Given the description of an element on the screen output the (x, y) to click on. 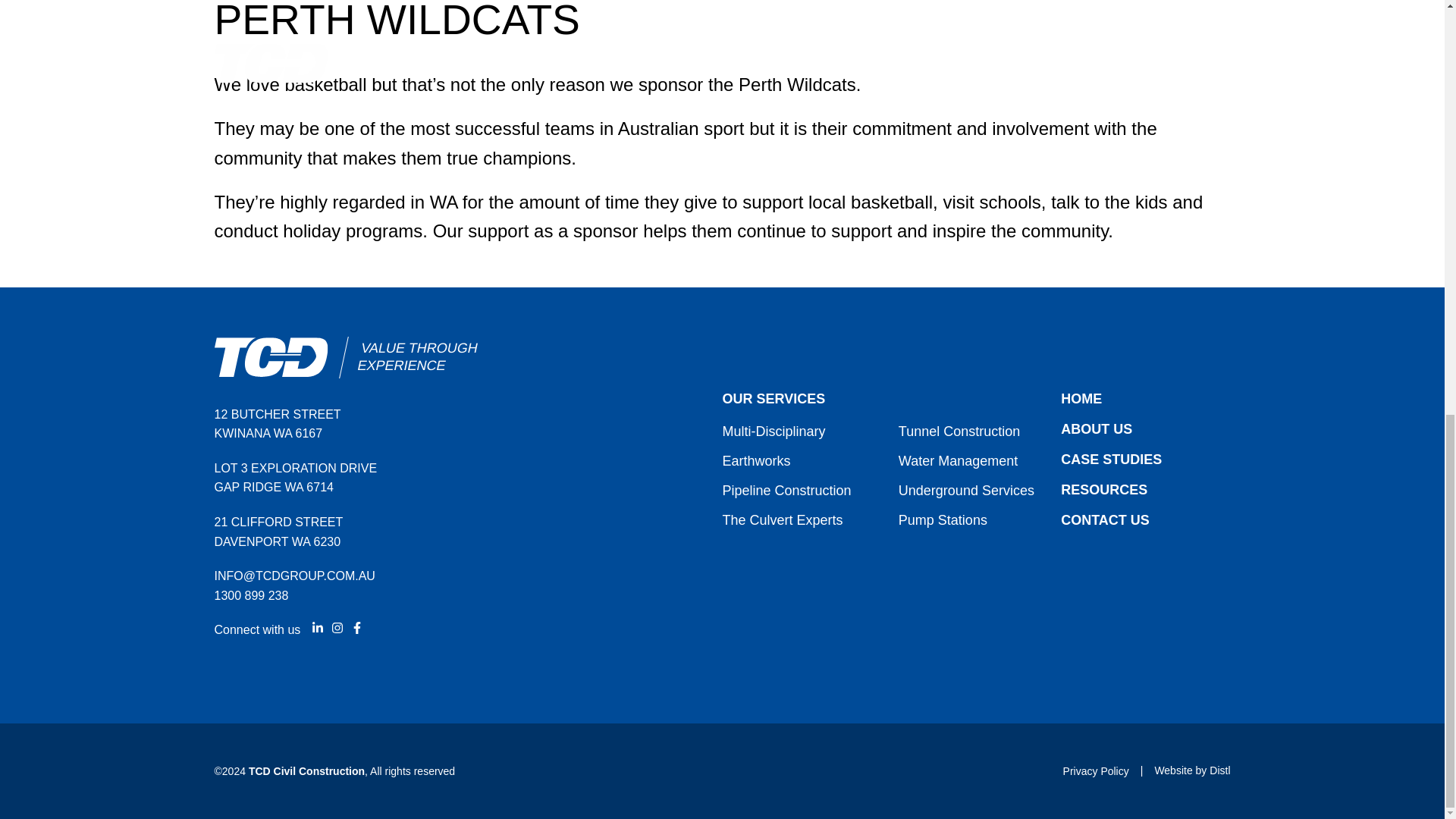
Multi-Disciplinary (773, 431)
Pipeline Construction (786, 490)
Underground Services (965, 490)
Water Management (957, 460)
Earthworks (756, 460)
ABOUT US (1096, 428)
Pump Stations (942, 519)
Tunnel Construction (959, 431)
RESOURCES (1104, 489)
The Culvert Experts (782, 519)
